Given the description of an element on the screen output the (x, y) to click on. 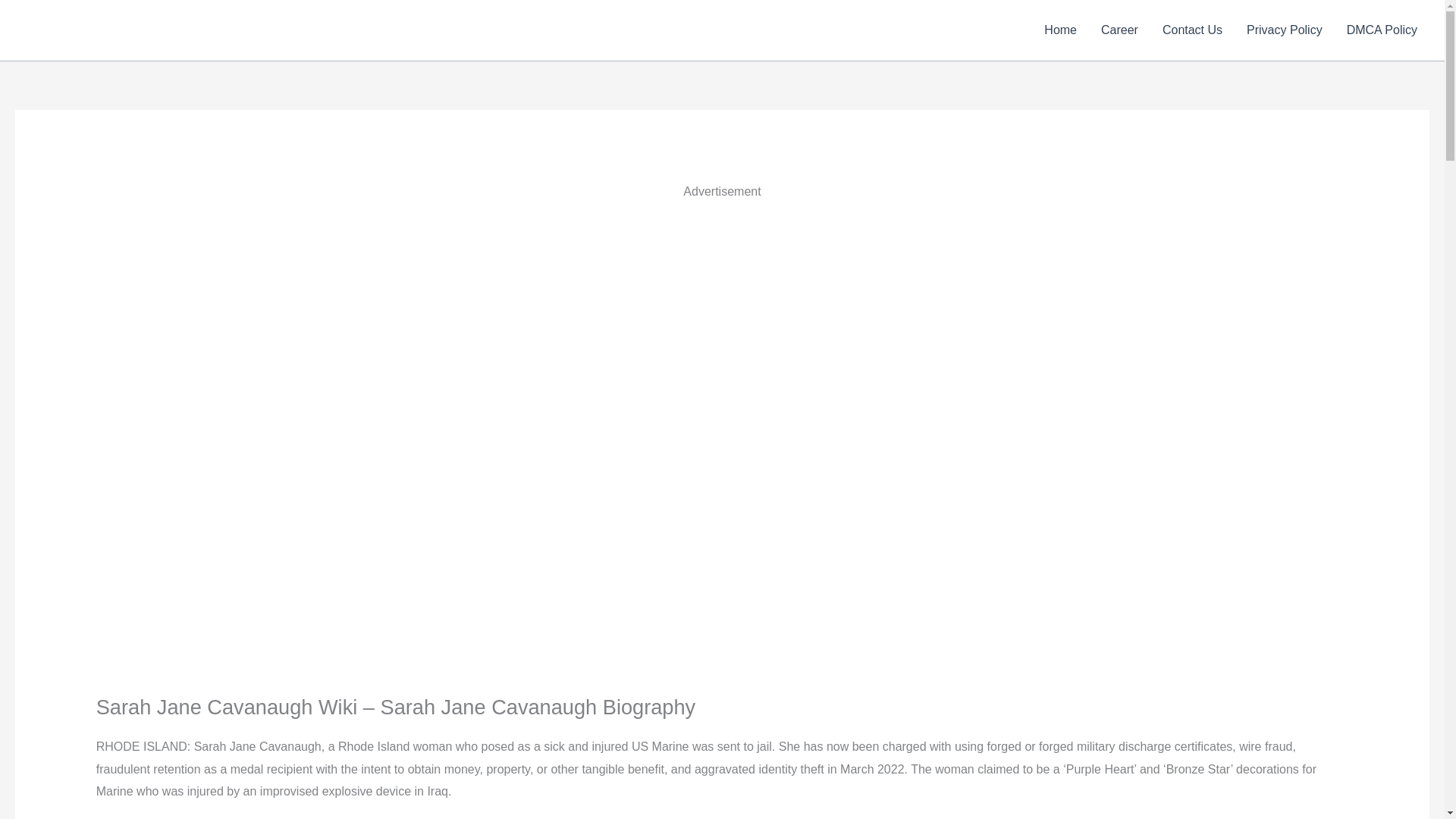
Privacy Policy (1284, 30)
Contact Us (1192, 30)
DMCA Policy (1382, 30)
Home (1060, 30)
Career (1119, 30)
